Given the description of an element on the screen output the (x, y) to click on. 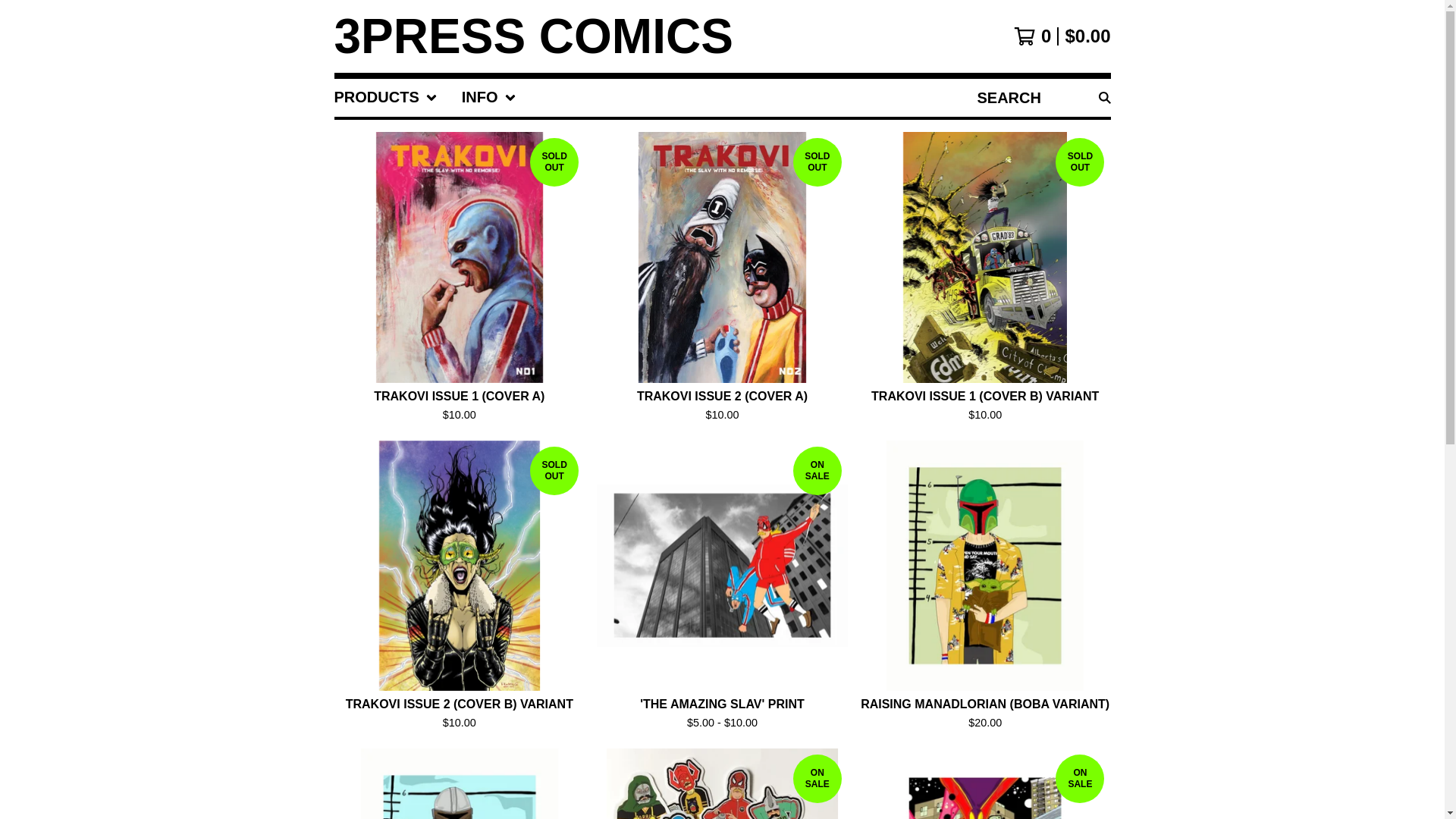
SOLD OUT
TRAKOVI ISSUE 2 (COVER A)
$10.00 Element type: text (721, 279)
3PRESS COMICS Element type: text (532, 36)
RAISING MANADLORIAN (BOBA VARIANT)
$20.00 Element type: text (985, 588)
SOLD OUT
TRAKOVI ISSUE 2 (COVER B) VARIANT
$10.00 Element type: text (458, 588)
SOLD OUT
TRAKOVI ISSUE 1 (COVER B) VARIANT
$10.00 Element type: text (985, 279)
INFO Element type: text (488, 97)
Search Element type: hover (1104, 97)
PRODUCTS Element type: text (384, 97)
0
$0.00 Element type: text (1061, 36)
ON SALE
'THE AMAZING SLAV' PRINT
$5.00 - $10.00 Element type: text (721, 588)
SOLD OUT
TRAKOVI ISSUE 1 (COVER A)
$10.00 Element type: text (458, 279)
